Given the description of an element on the screen output the (x, y) to click on. 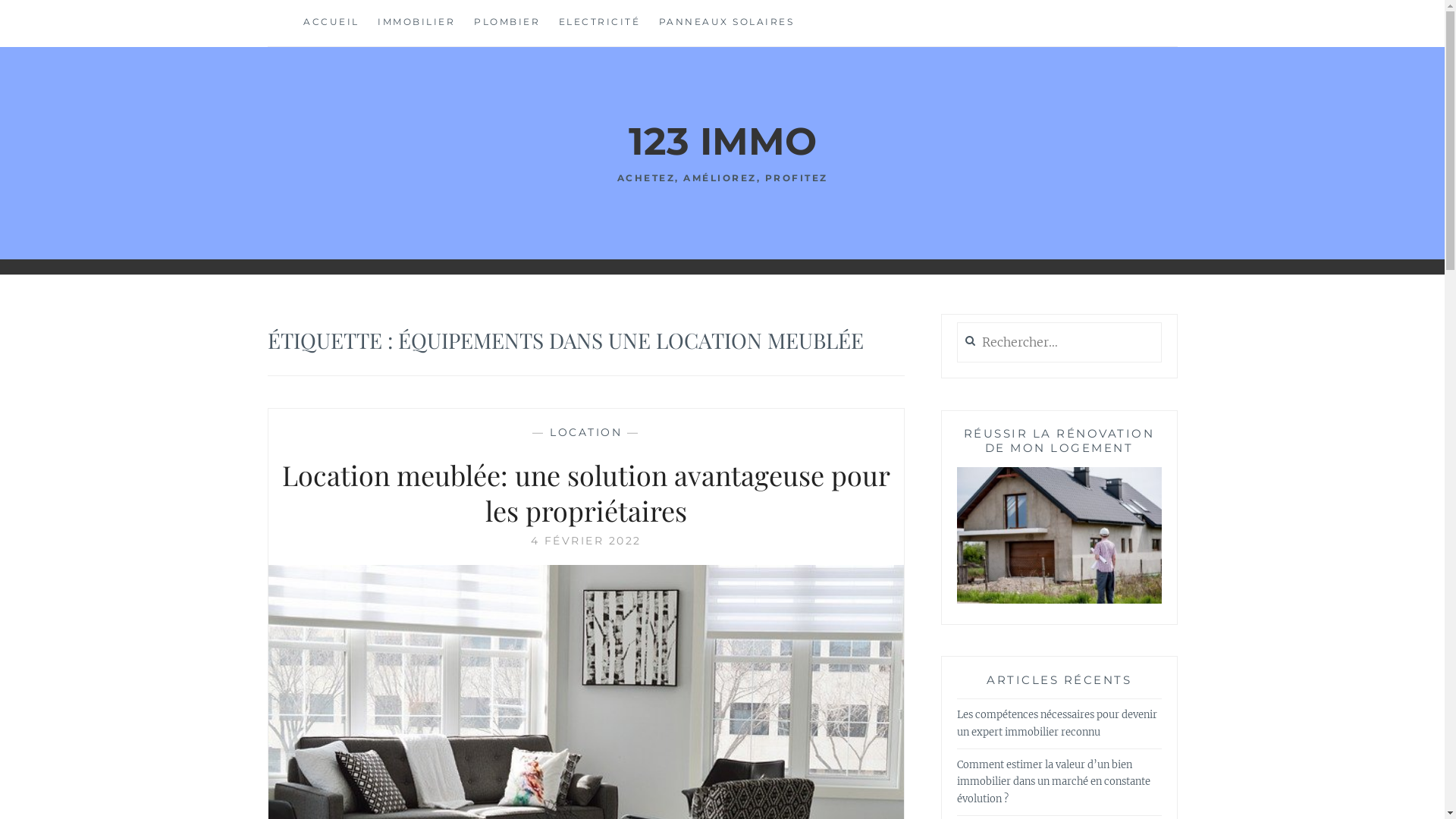
PLOMBIER Element type: text (506, 22)
123 IMMO Element type: text (721, 141)
IMMOBILIER Element type: text (416, 22)
ACCUEIL Element type: text (331, 22)
Rechercher Element type: text (61, 19)
PANNEAUX SOLAIRES Element type: text (726, 22)
LOCATION Element type: text (585, 432)
